Given the description of an element on the screen output the (x, y) to click on. 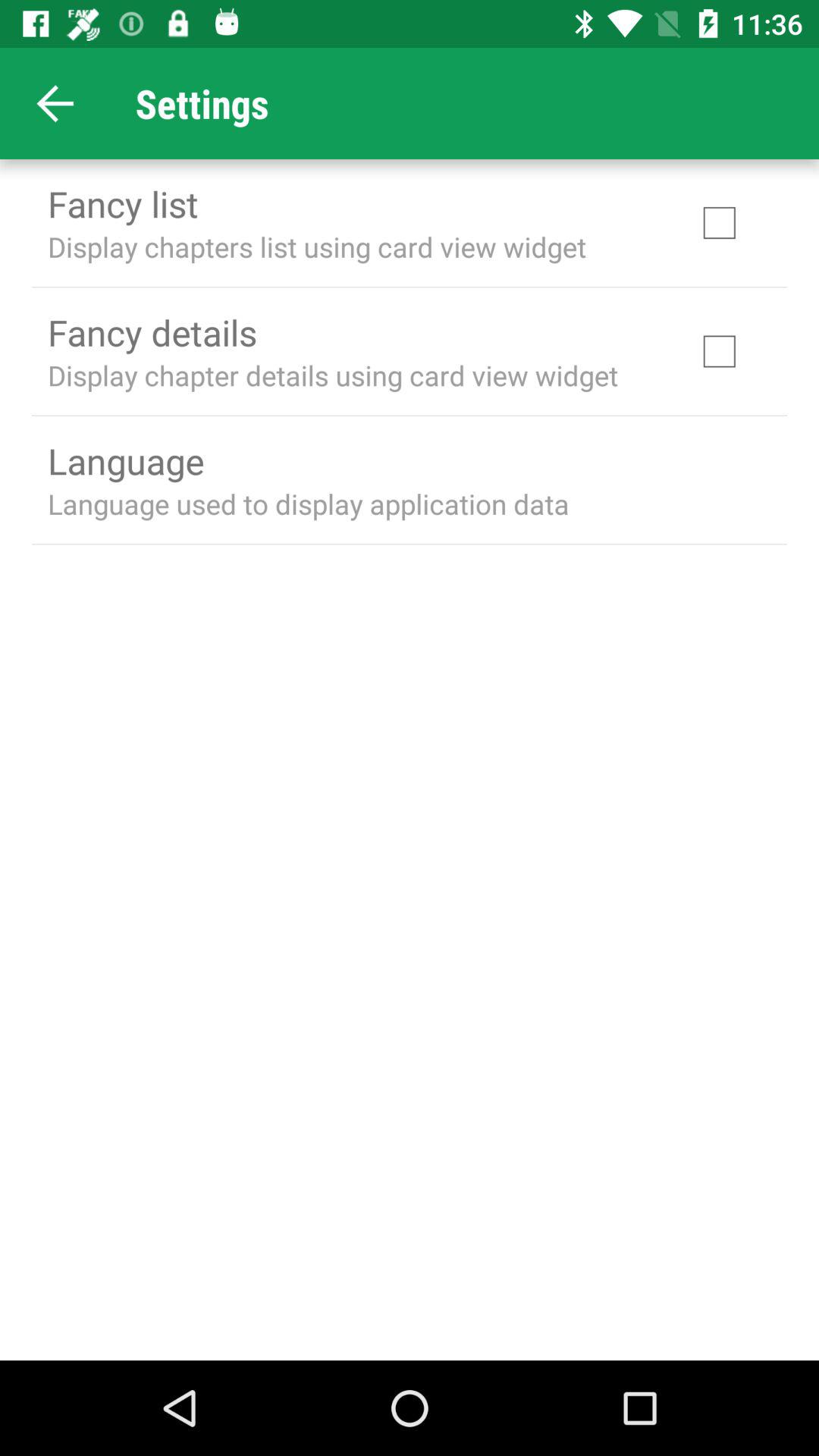
press the display chapters list icon (316, 246)
